Given the description of an element on the screen output the (x, y) to click on. 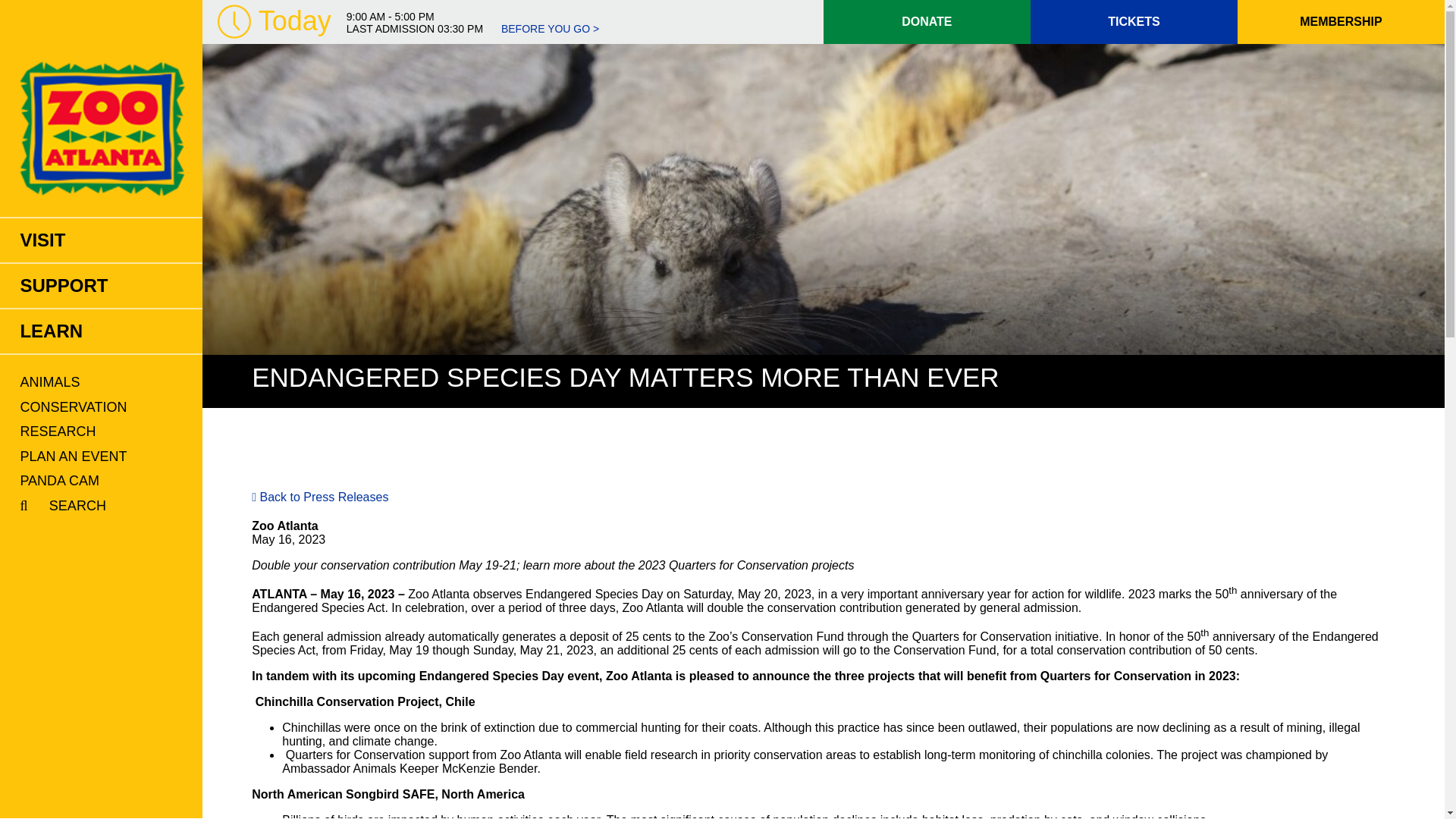
VISIT (101, 240)
SUPPORT (101, 285)
